Given the description of an element on the screen output the (x, y) to click on. 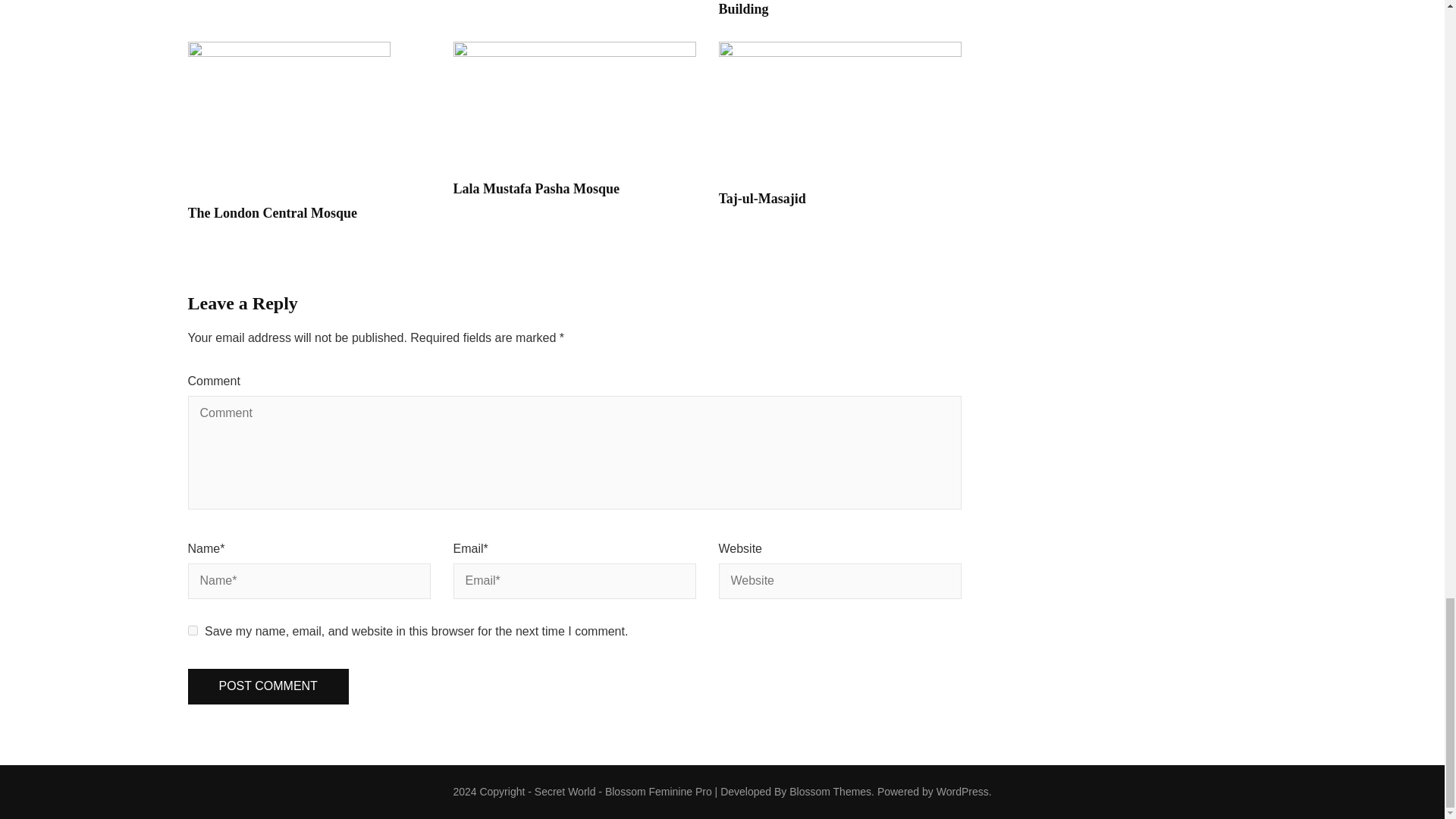
Post Comment (268, 686)
yes (192, 630)
